Given the description of an element on the screen output the (x, y) to click on. 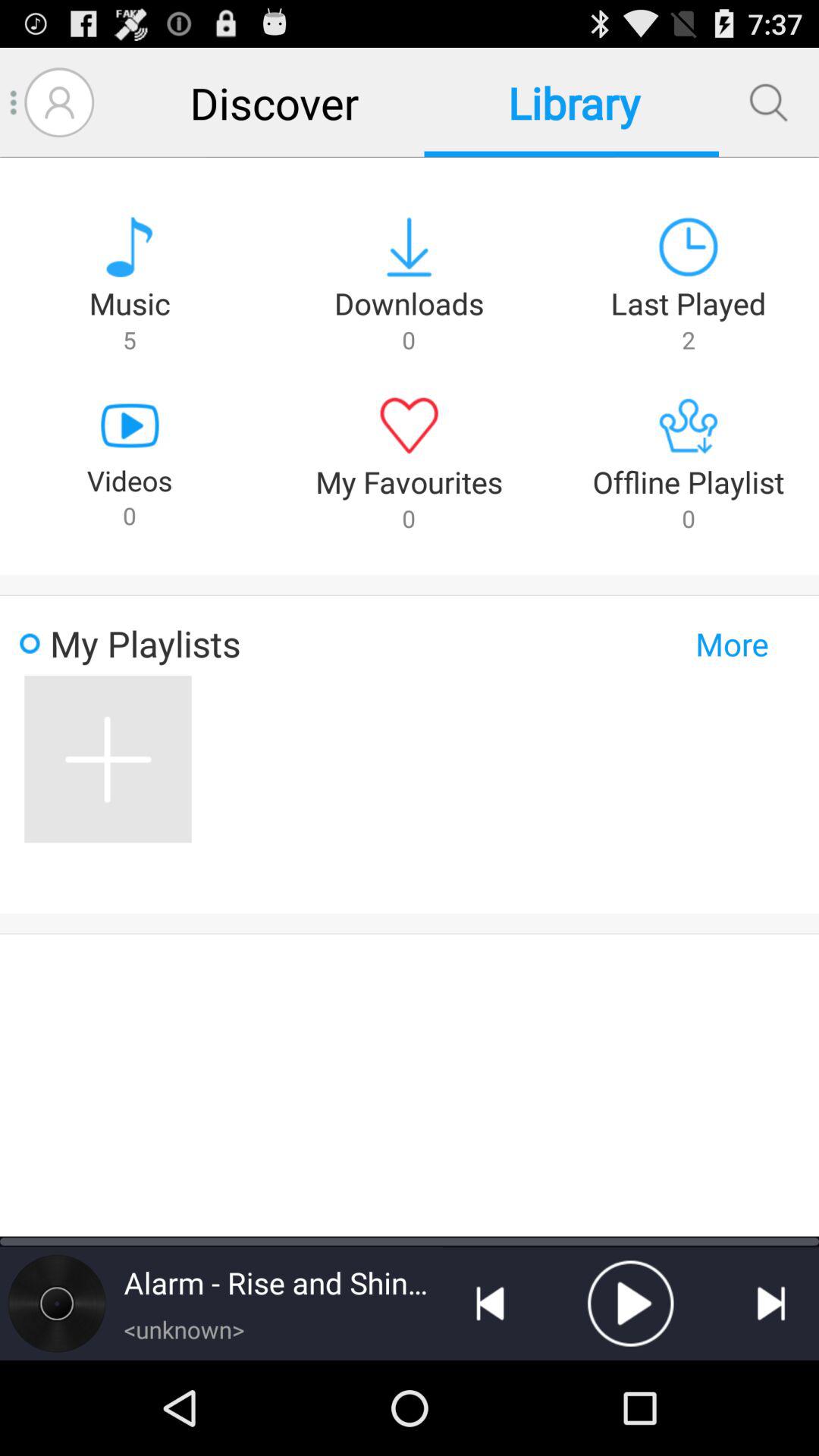
view the users profile (59, 102)
